Given the description of an element on the screen output the (x, y) to click on. 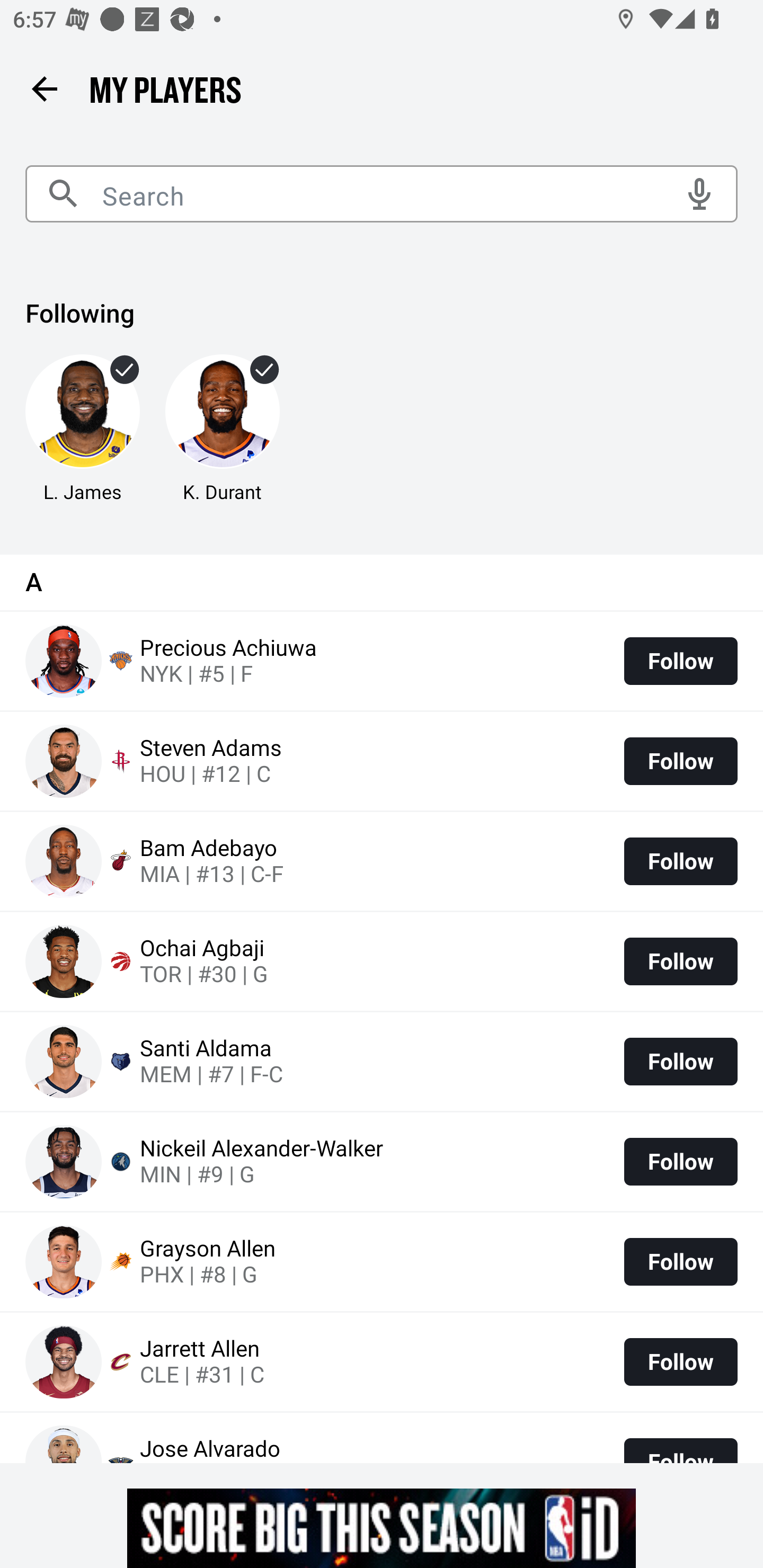
Back button (44, 88)
Search (381, 193)
Follow (680, 660)
Follow (680, 760)
Follow (680, 861)
Follow (680, 961)
Follow (680, 1061)
Follow (680, 1161)
Follow (680, 1261)
Follow (680, 1361)
g5nqqygr7owph (381, 1528)
